Given the description of an element on the screen output the (x, y) to click on. 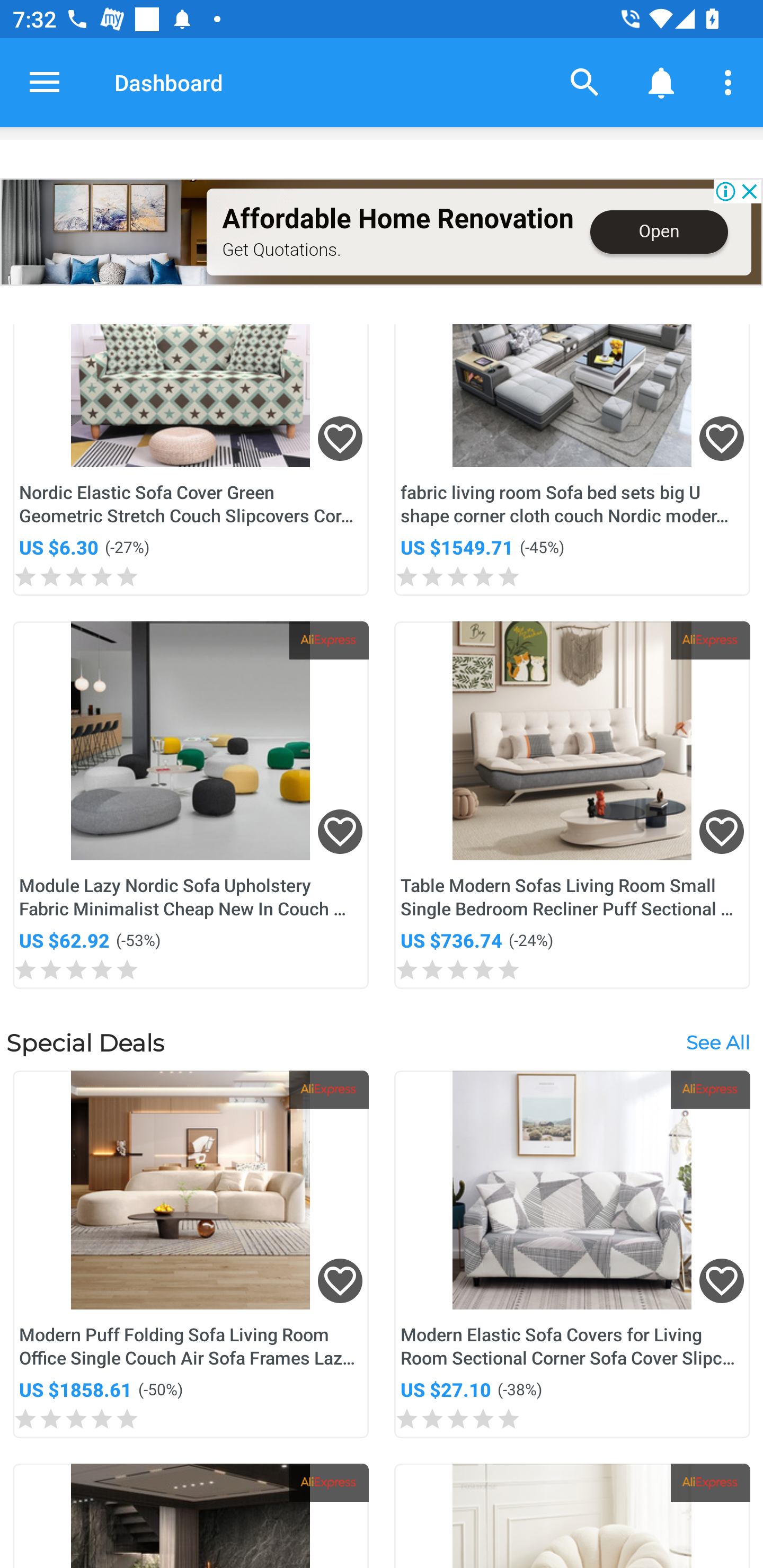
Open navigation drawer (44, 82)
Search (585, 81)
More options (731, 81)
free-quote (104, 231)
Affordable Home Renovation (397, 219)
Open (658, 232)
Get Quotations. (281, 249)
See All (717, 1042)
